Given the description of an element on the screen output the (x, y) to click on. 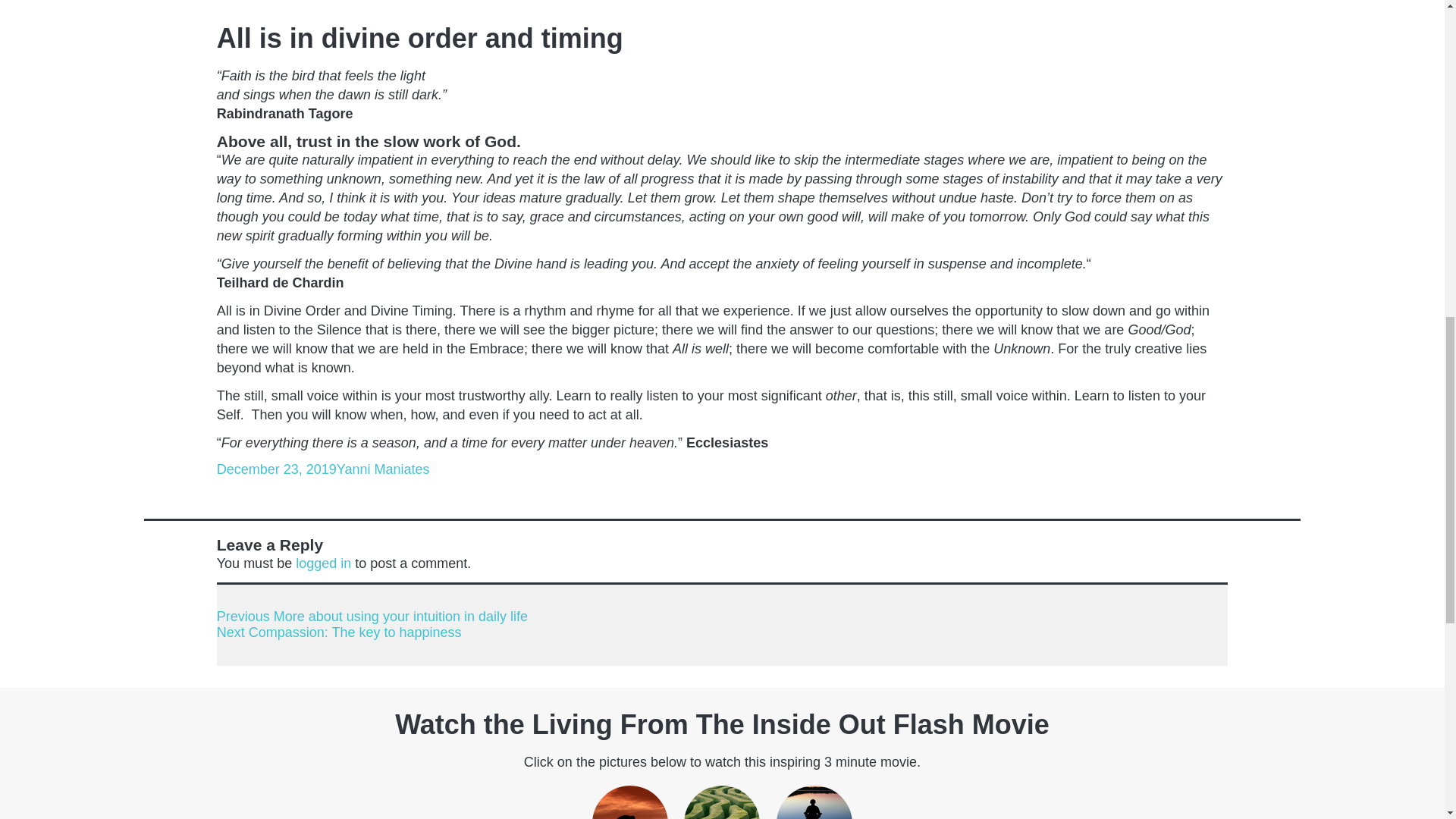
December 23, 2019 (276, 468)
Yanni Maniates (338, 631)
logged in (382, 468)
